Given the description of an element on the screen output the (x, y) to click on. 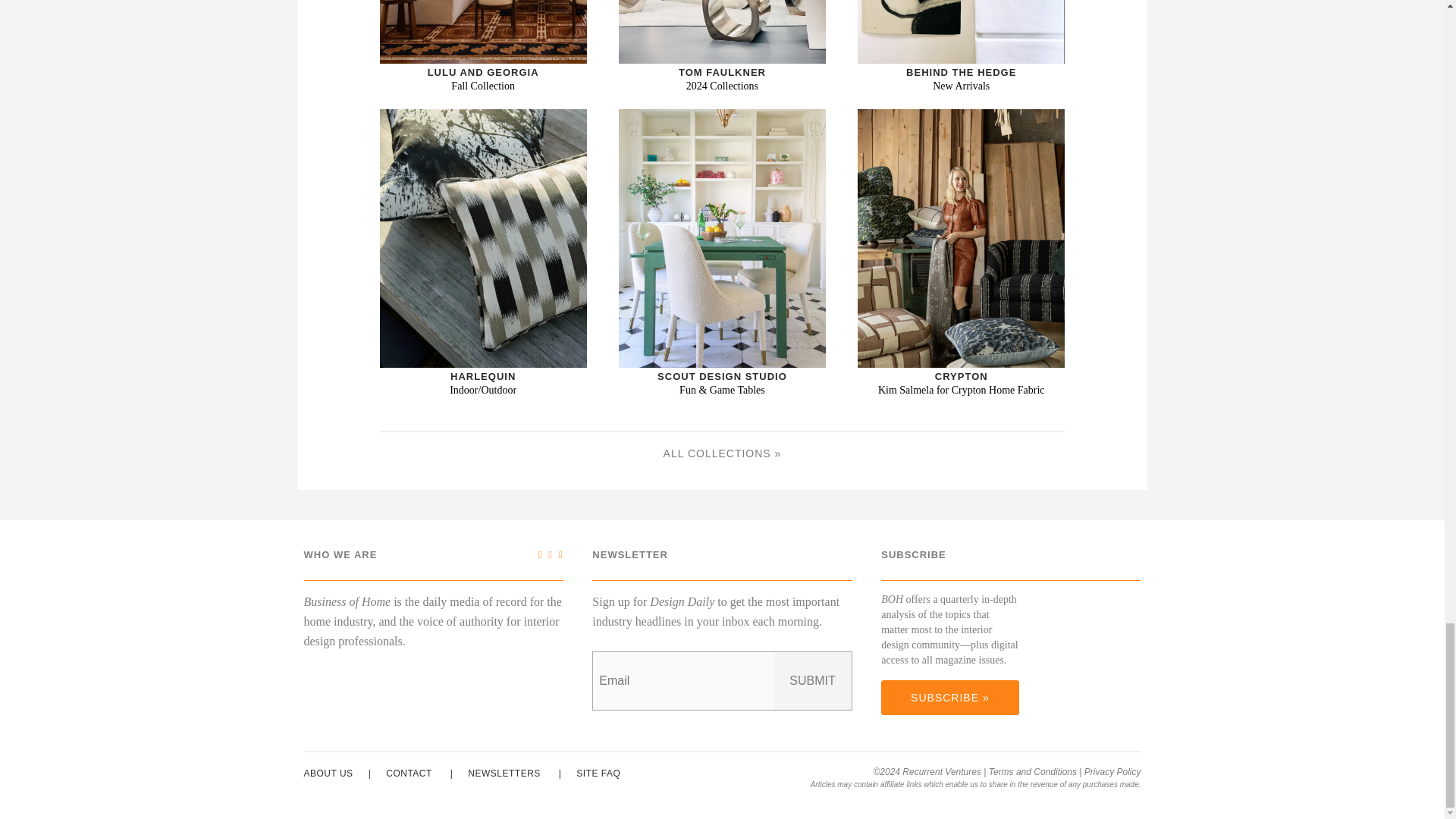
New Arrivals (960, 31)
Fall Collection (482, 31)
2024 Collections (721, 31)
